Given the description of an element on the screen output the (x, y) to click on. 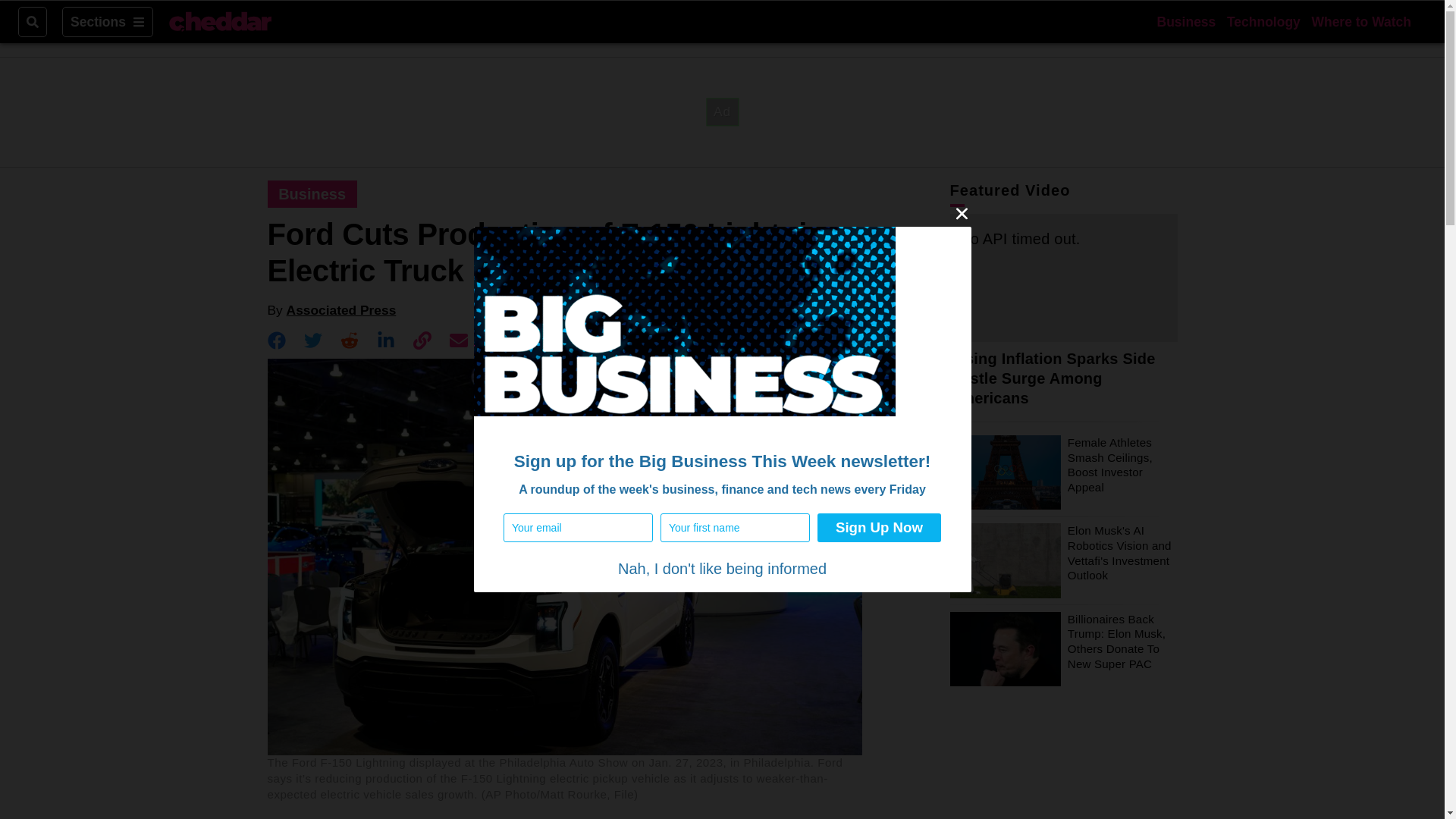
Rising Inflation Sparks Side Hustle Surge Among Americans (1051, 378)
Business (312, 193)
Sections (107, 21)
3rd party ad content (721, 111)
Female Athletes Smash Ceilings, Boost Investor Appeal (1110, 464)
Technology (1263, 21)
Associated Press (341, 309)
Cheddar Logo (220, 21)
Where to Watch (1360, 21)
Business (1186, 21)
